Given the description of an element on the screen output the (x, y) to click on. 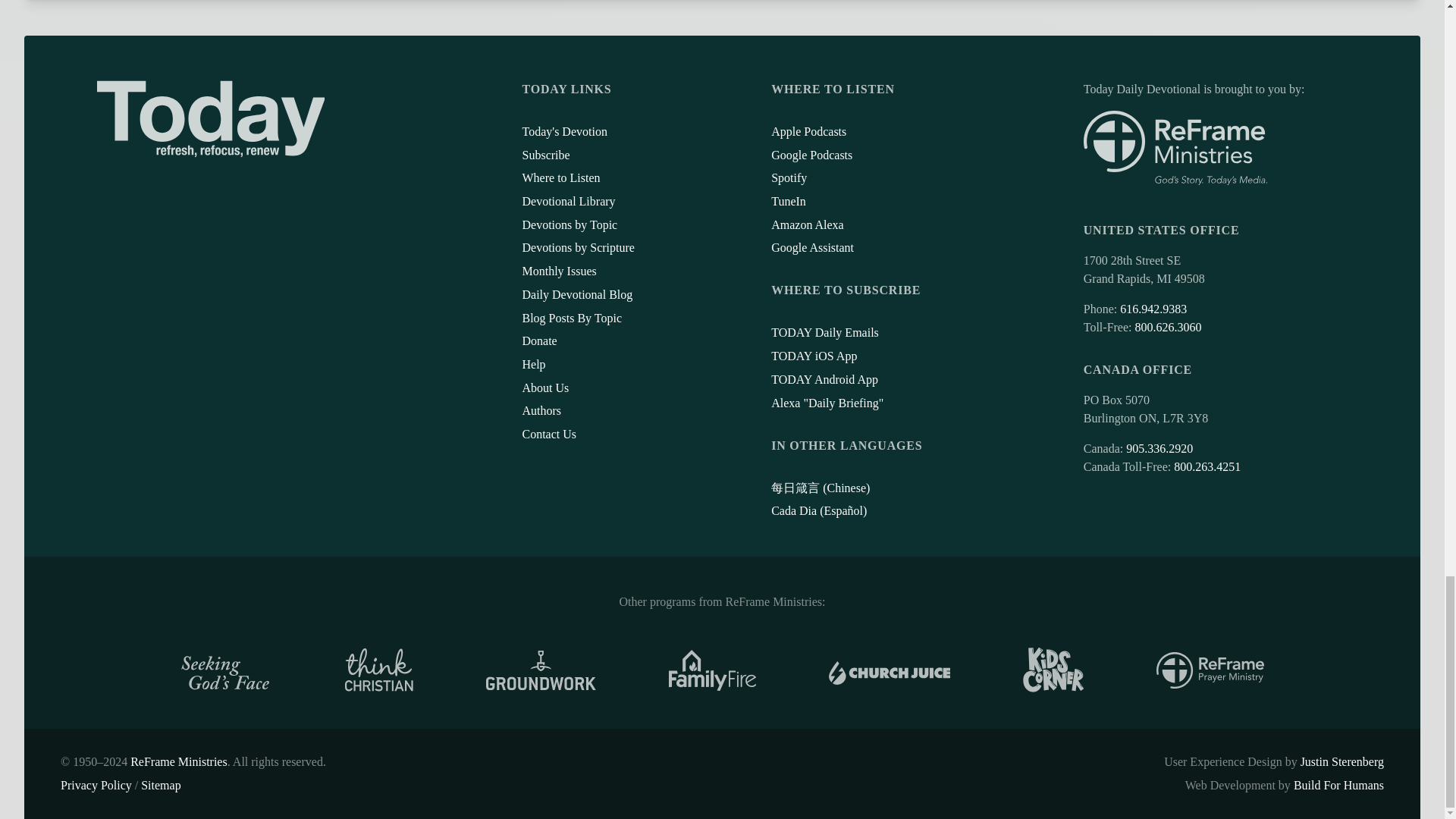
Devotional Library (567, 201)
Devotions by Scripture (577, 246)
Today Daily Devotional (210, 119)
Blog Posts By Topic (571, 318)
Monthly Issues (558, 270)
About Us (545, 387)
ReFrame Ministries: God's story. Today's media. (1174, 147)
Subscribe (545, 154)
Today's Devotion (564, 131)
Devotions by Topic (569, 224)
Where to Listen (560, 177)
Donate (538, 340)
Prayer Ministry (1209, 669)
